Given the description of an element on the screen output the (x, y) to click on. 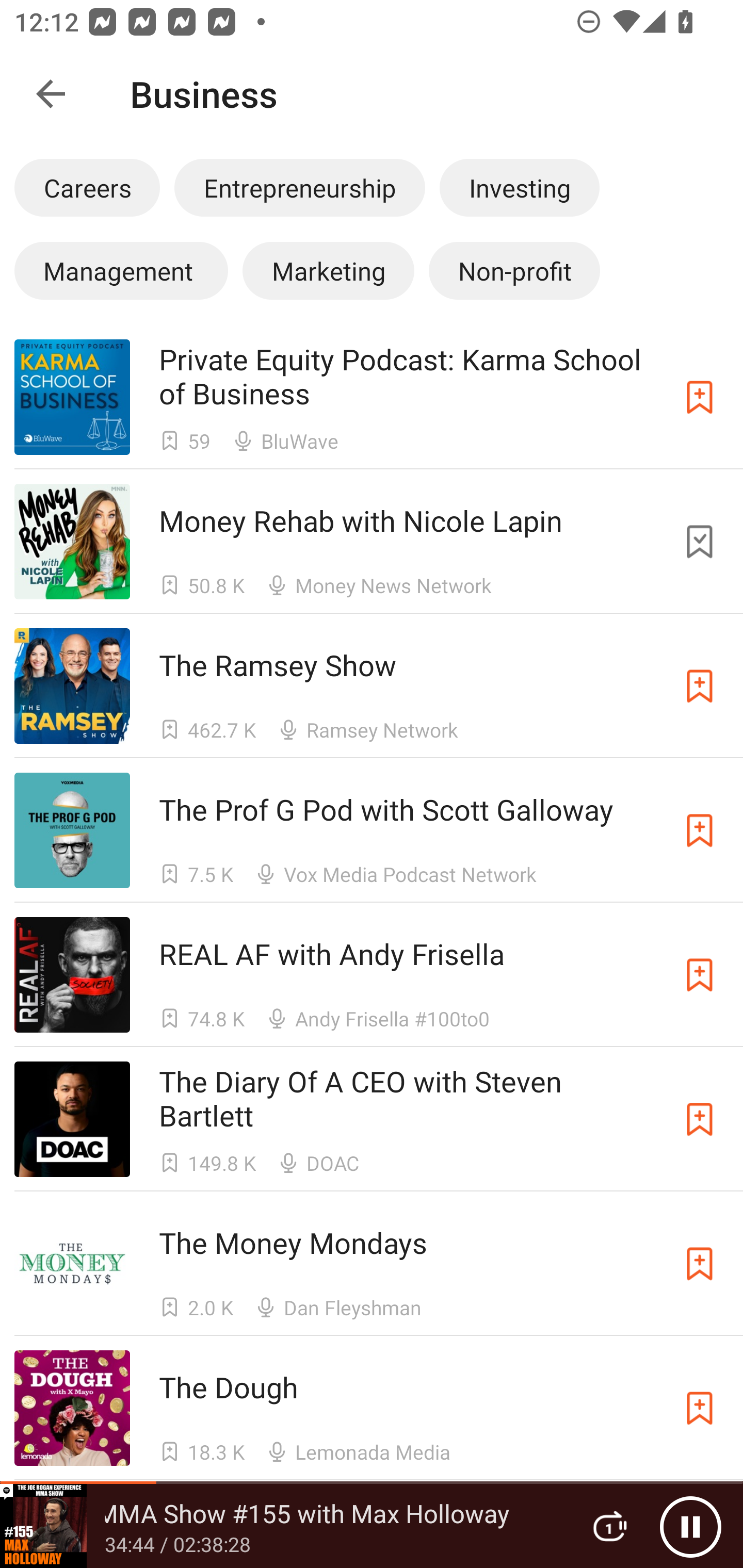
Navigate up (50, 93)
Careers (86, 187)
Entrepreneurship (299, 187)
Investing (519, 187)
Management  (121, 270)
Marketing (328, 270)
Non-profit (514, 270)
Subscribe (699, 396)
Unsubscribe (699, 541)
Subscribe (699, 685)
Subscribe (699, 830)
Subscribe (699, 975)
Subscribe (699, 1119)
Subscribe (699, 1263)
Subscribe (699, 1408)
Subscribe (699, 1531)
Pause (690, 1526)
